Given the description of an element on the screen output the (x, y) to click on. 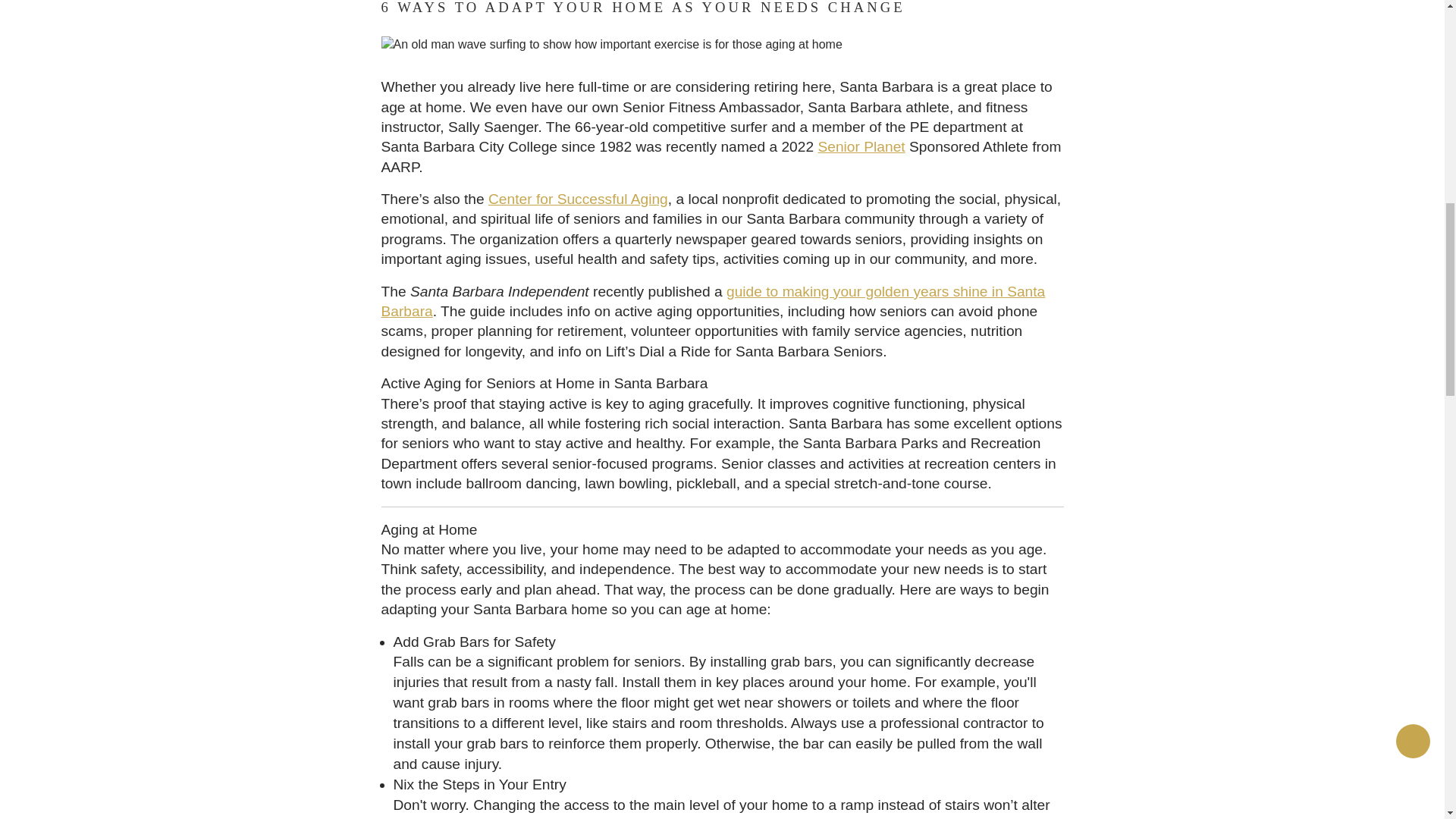
guide to making your golden years shine in Santa Barbara (712, 301)
Senior Planet (860, 146)
Center for Successful Aging (577, 198)
